Given the description of an element on the screen output the (x, y) to click on. 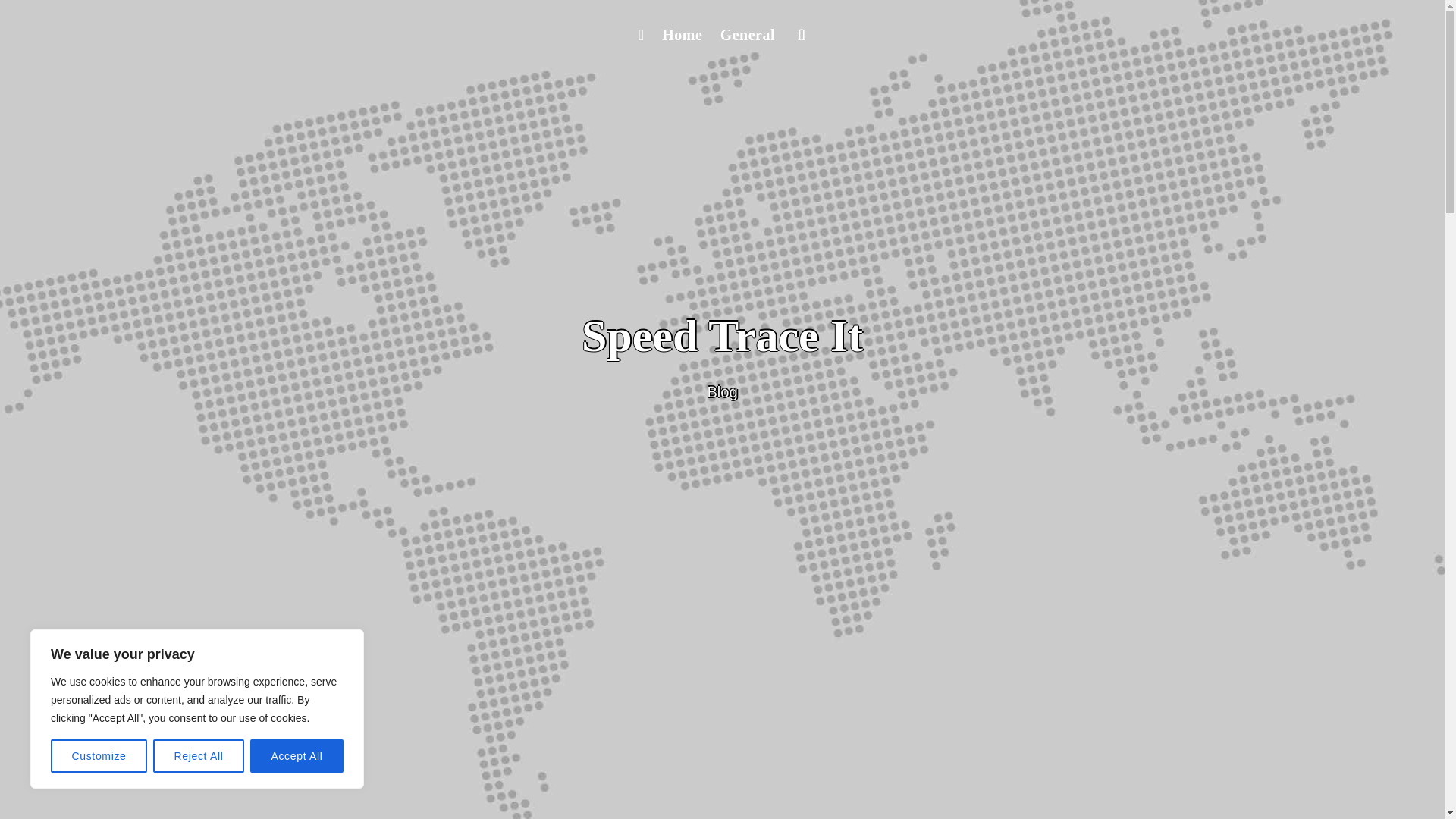
Accept All (296, 756)
Home (681, 35)
Reject All (198, 756)
Customize (98, 756)
General (747, 35)
Speed Trace It (721, 336)
